Given the description of an element on the screen output the (x, y) to click on. 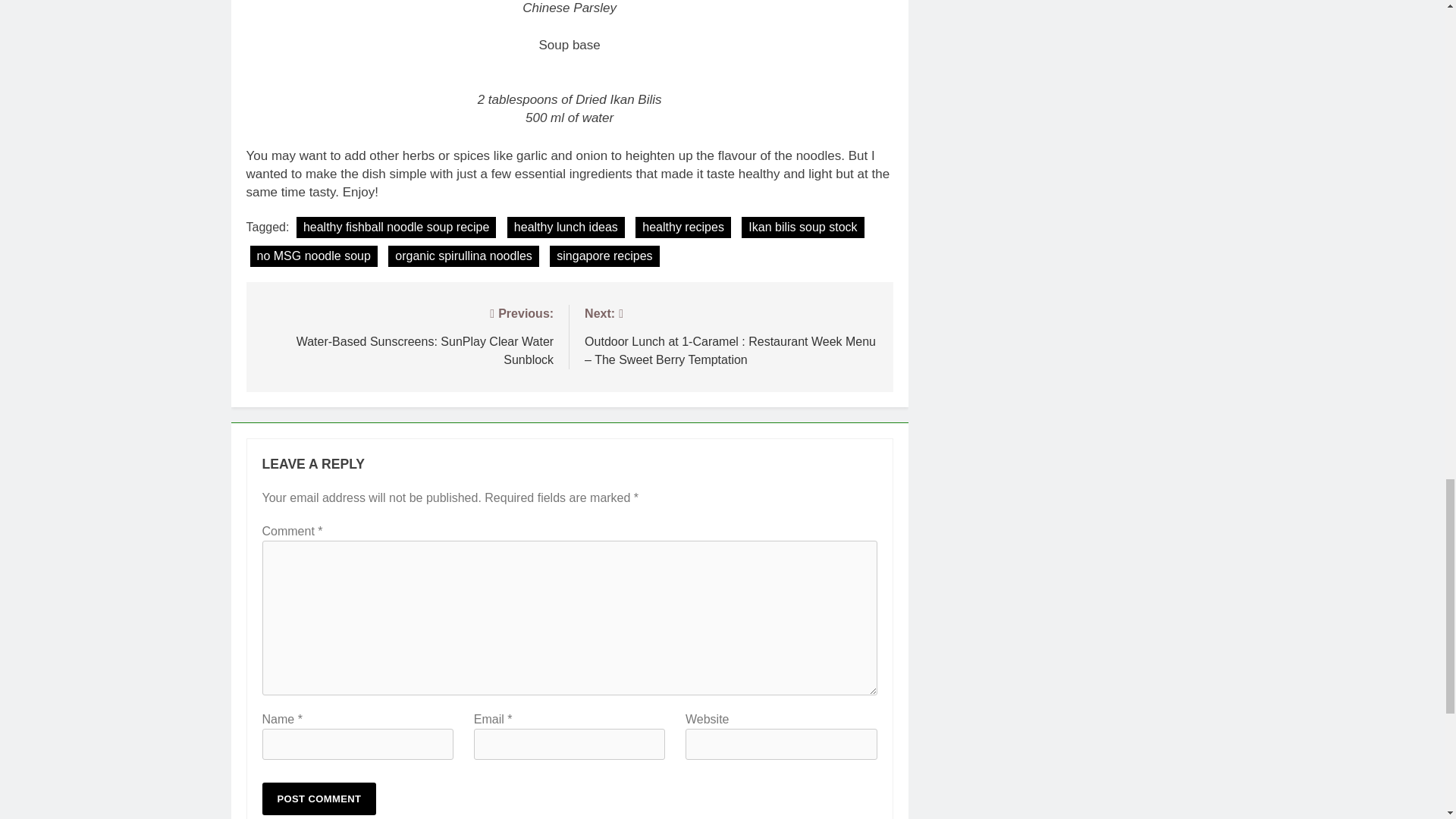
Post Comment (319, 798)
